Given the description of an element on the screen output the (x, y) to click on. 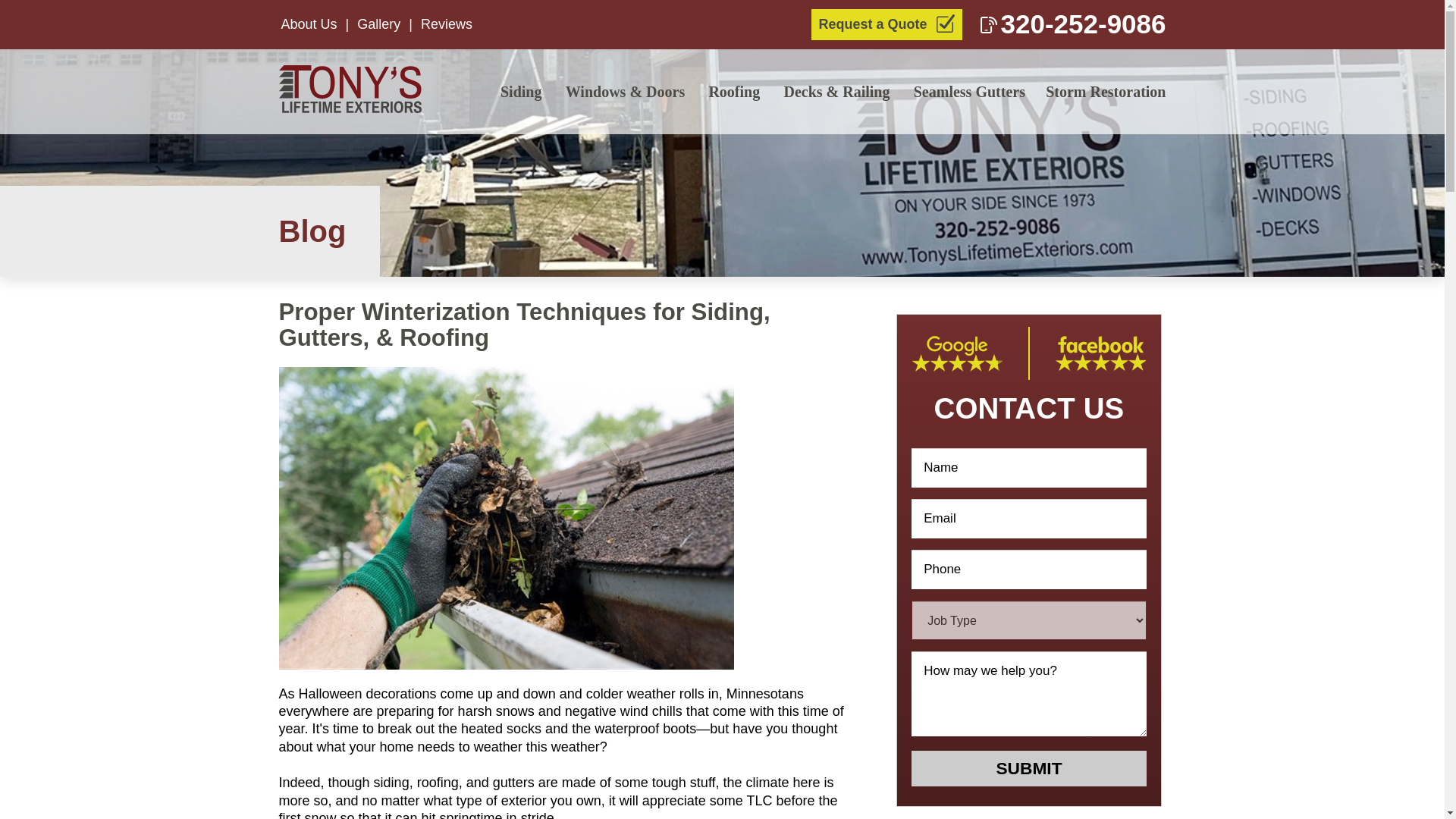
Gallery (378, 23)
320-252-9086 (1072, 24)
Siding (522, 91)
Tony's Lifetime Exteriors (354, 91)
About Us (308, 23)
Contact us today (1072, 24)
Storm Restoration (1105, 91)
Request a Quote (886, 24)
Gallery (378, 23)
Reviews (445, 23)
Request a Quote (886, 24)
Roofing (734, 91)
Seamless Gutters (969, 91)
Siding (522, 91)
Reviews (445, 23)
